Given the description of an element on the screen output the (x, y) to click on. 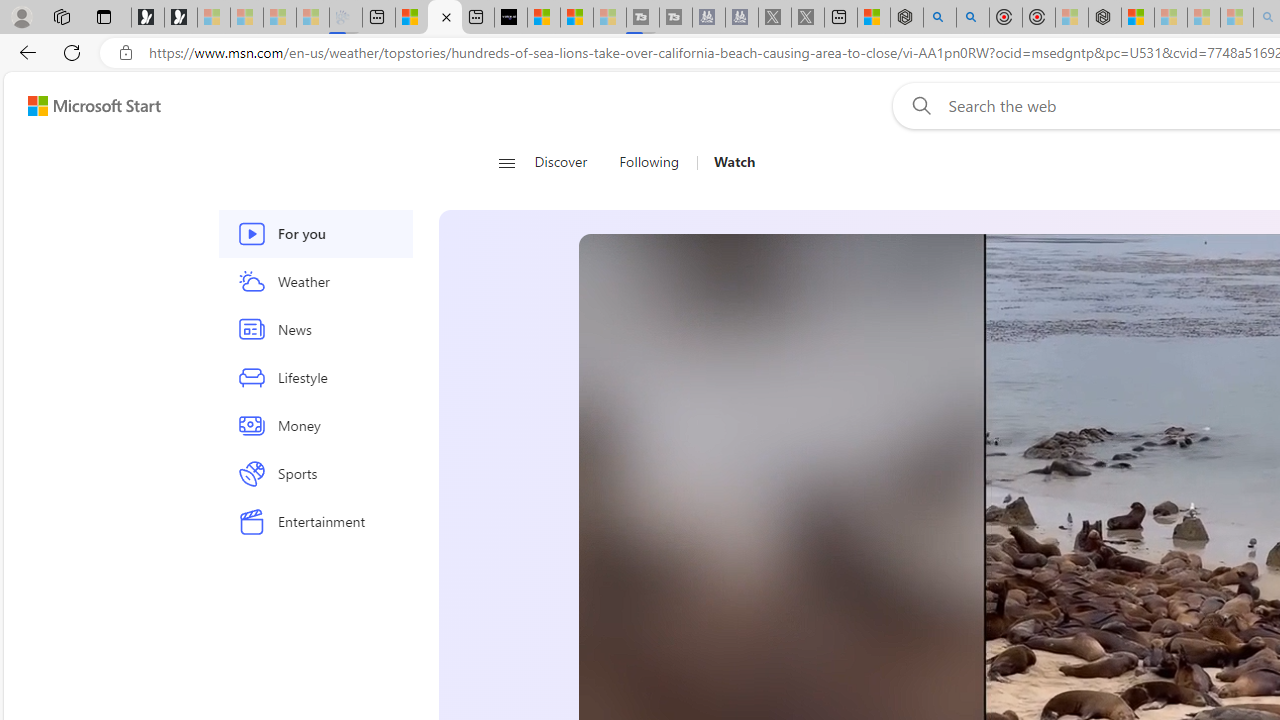
Nordace - Nordace Siena Is Not An Ordinary Backpack (1105, 17)
Newsletter Sign Up (181, 17)
Class: button-glyph (505, 162)
Open navigation menu (506, 162)
Web search (917, 105)
